Given the description of an element on the screen output the (x, y) to click on. 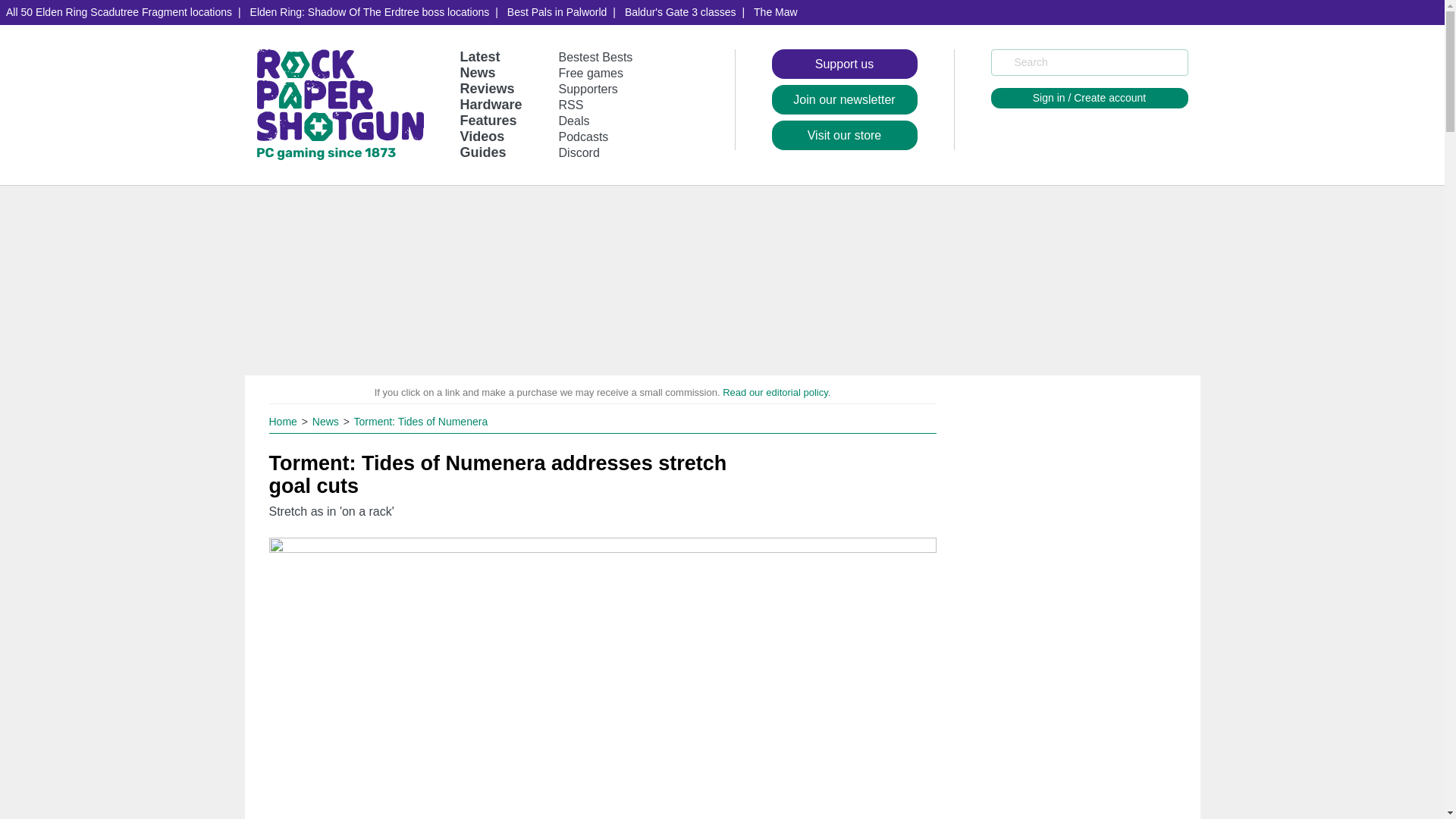
Videos (481, 136)
Free games (591, 72)
Discord (579, 152)
Guides (482, 151)
Visit our store (844, 134)
All 50 Elden Ring Scadutree Fragment locations (119, 12)
Bestest Bests (596, 56)
Deals (574, 120)
Features (488, 120)
Home (283, 421)
